Given the description of an element on the screen output the (x, y) to click on. 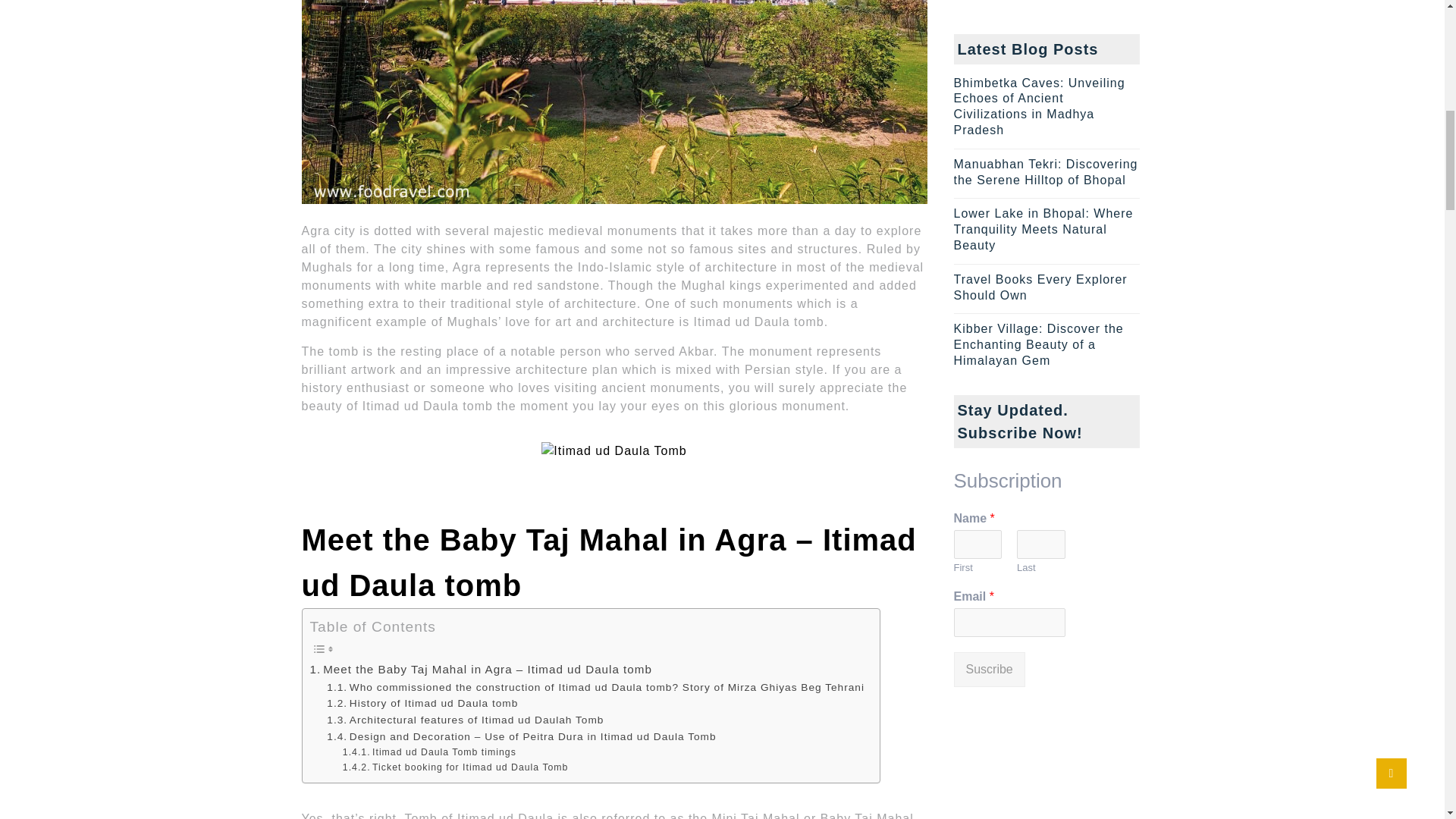
Architectural features of Itimad ud Daulah Tomb  (466, 719)
History of Itimad ud Daula tomb (422, 703)
Ticket booking for Itimad ud Daula Tomb (455, 767)
Ticket booking for Itimad ud Daula Tomb (455, 767)
History of Itimad ud Daula tomb (422, 703)
Itimad ud Daula Tomb timings (429, 752)
Itimad ud Daula Tomb timings (429, 752)
